Given the description of an element on the screen output the (x, y) to click on. 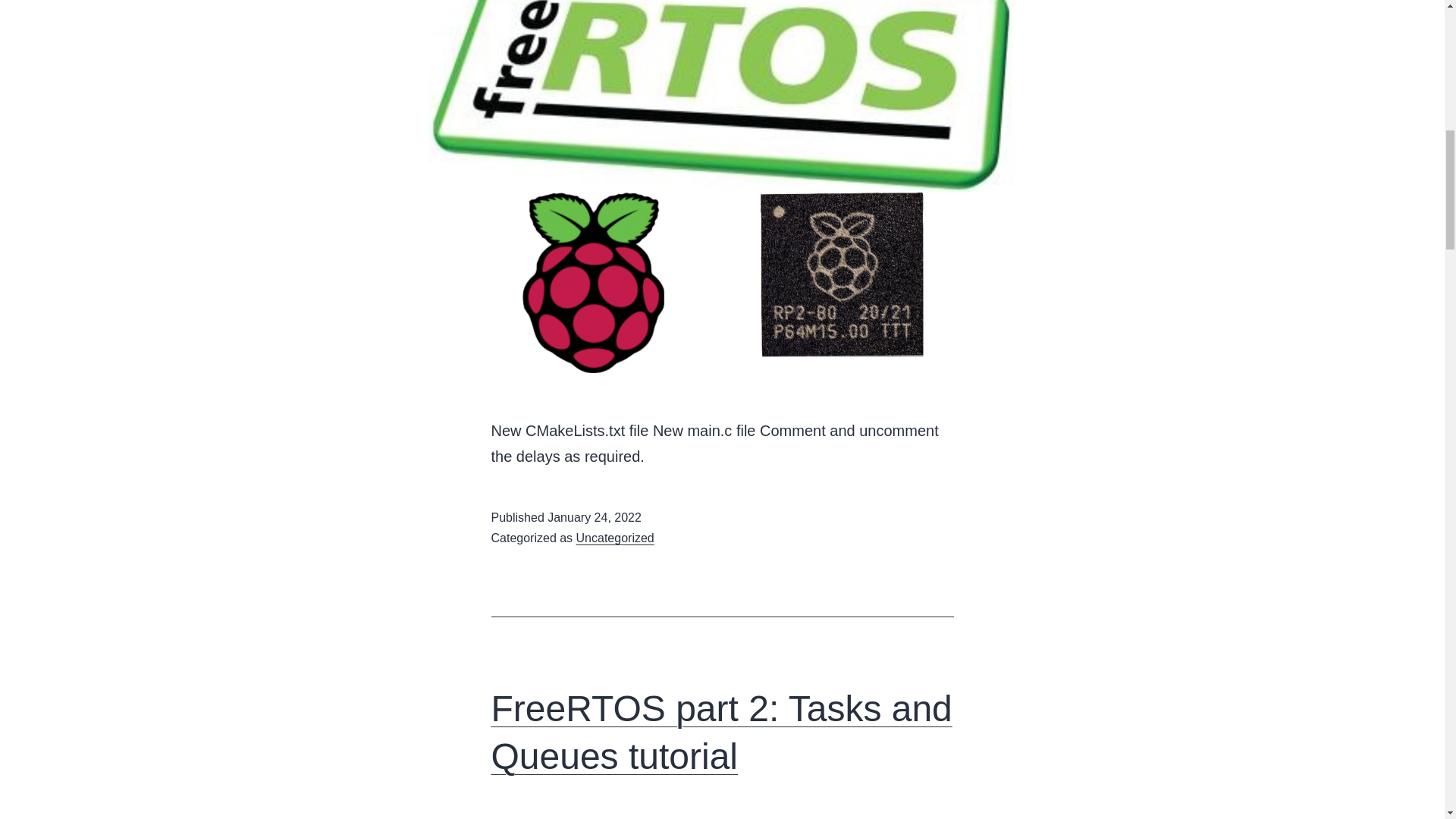
Uncategorized (614, 537)
FreeRTOS part 2: Tasks and Queues tutorial (722, 731)
